Given the description of an element on the screen output the (x, y) to click on. 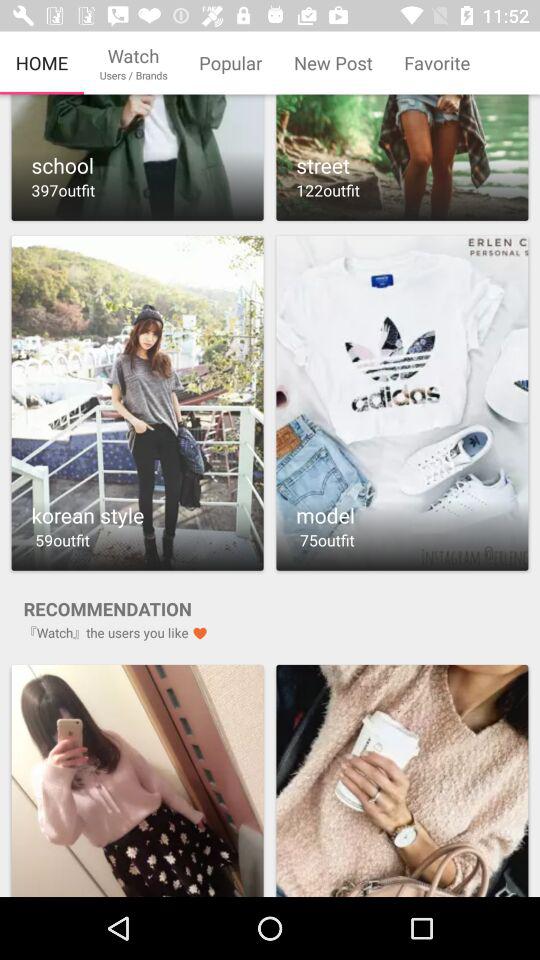
product advertisement (402, 780)
